Given the description of an element on the screen output the (x, y) to click on. 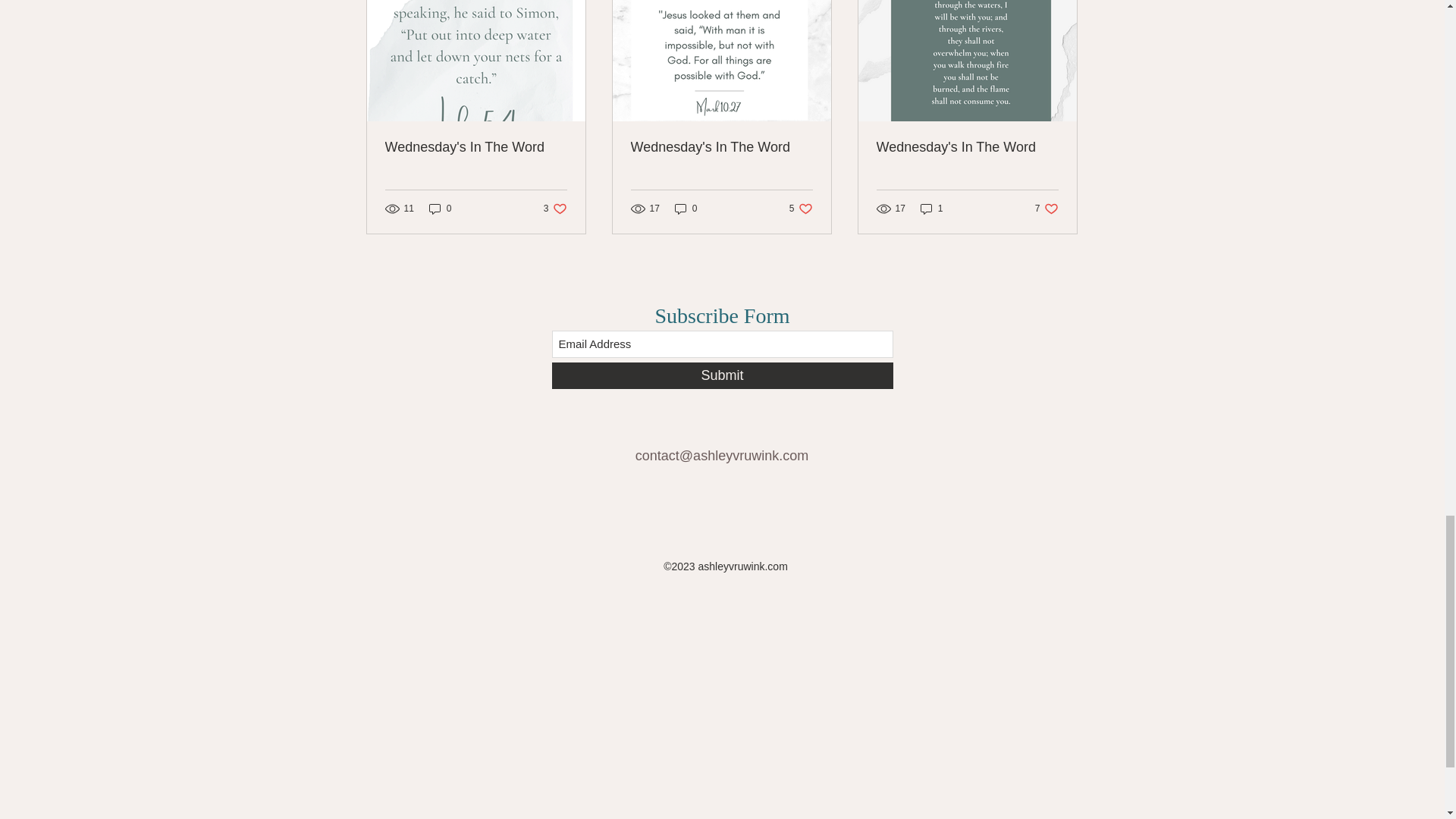
Wednesday's In The Word (721, 147)
Wednesday's In The Word (800, 208)
0 (555, 208)
0 (476, 147)
